Given the description of an element on the screen output the (x, y) to click on. 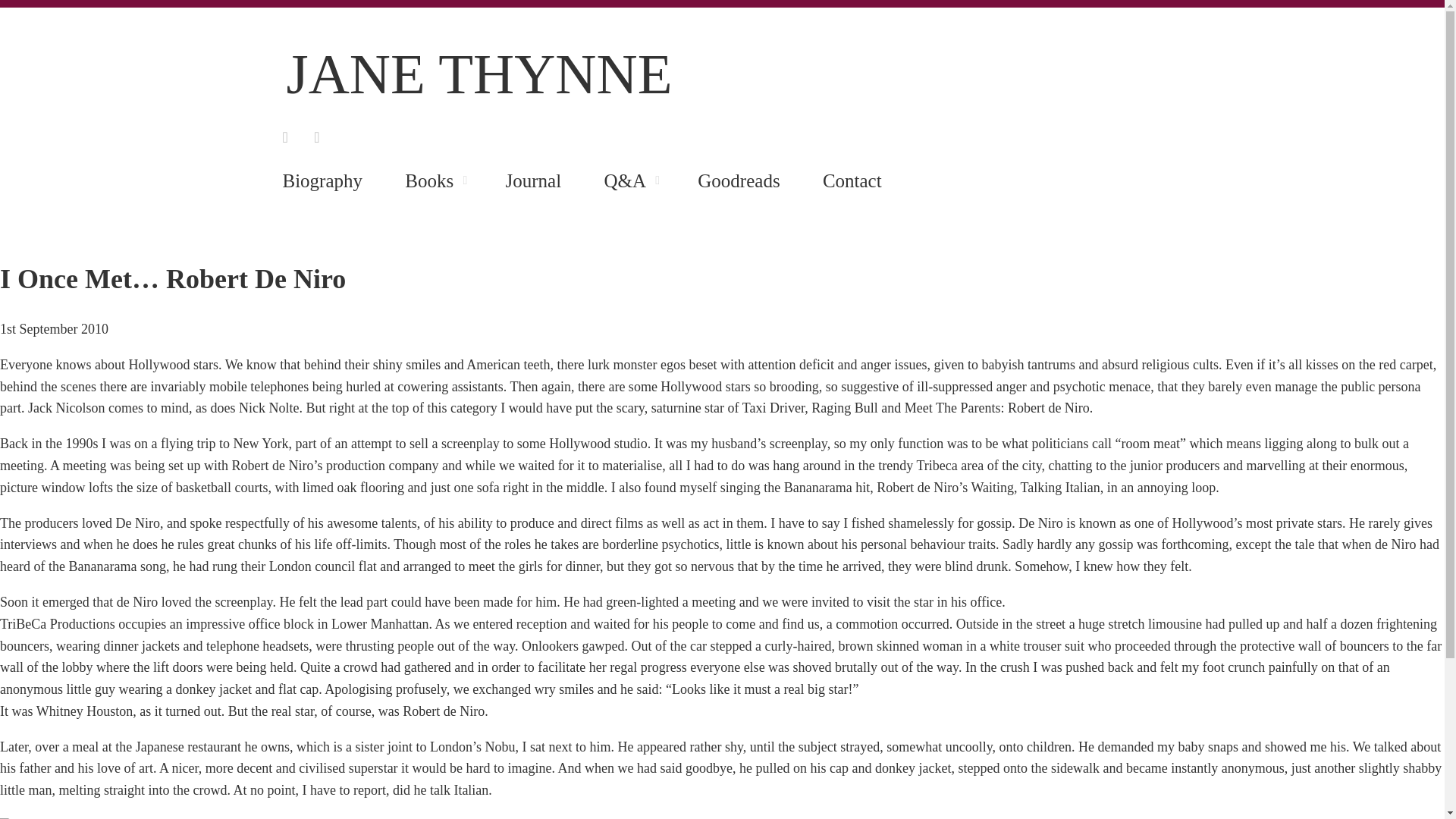
Biography (321, 179)
JANE THYNNE (479, 73)
Books (429, 179)
